Given the description of an element on the screen output the (x, y) to click on. 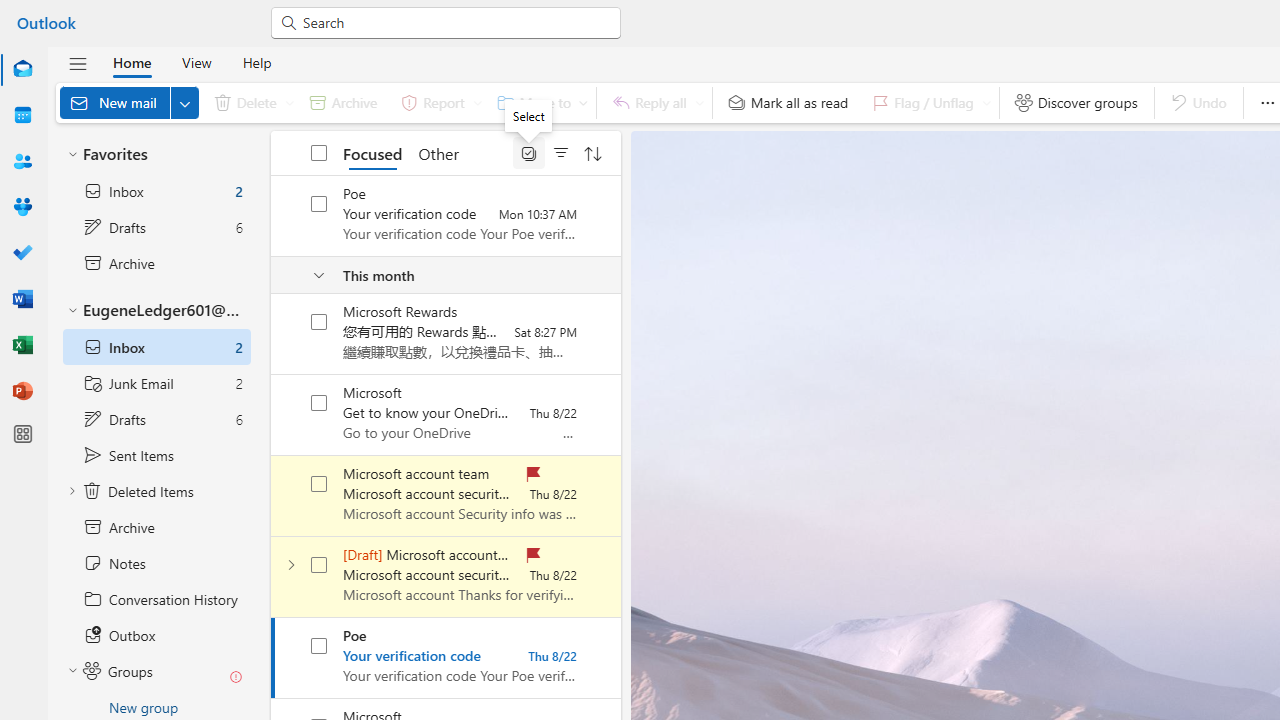
New mail (129, 102)
Expand to see more New options (184, 102)
Mail (22, 69)
Search for email, meetings, files and more. (454, 21)
AutomationID: checkbox-114 (319, 322)
Expand to see delete options (289, 102)
Excel (22, 344)
Groups (22, 207)
Focused (372, 152)
Hide navigation pane (77, 63)
Archive (343, 102)
Select a conversation (319, 645)
Report (437, 102)
PowerPoint (22, 391)
